Given the description of an element on the screen output the (x, y) to click on. 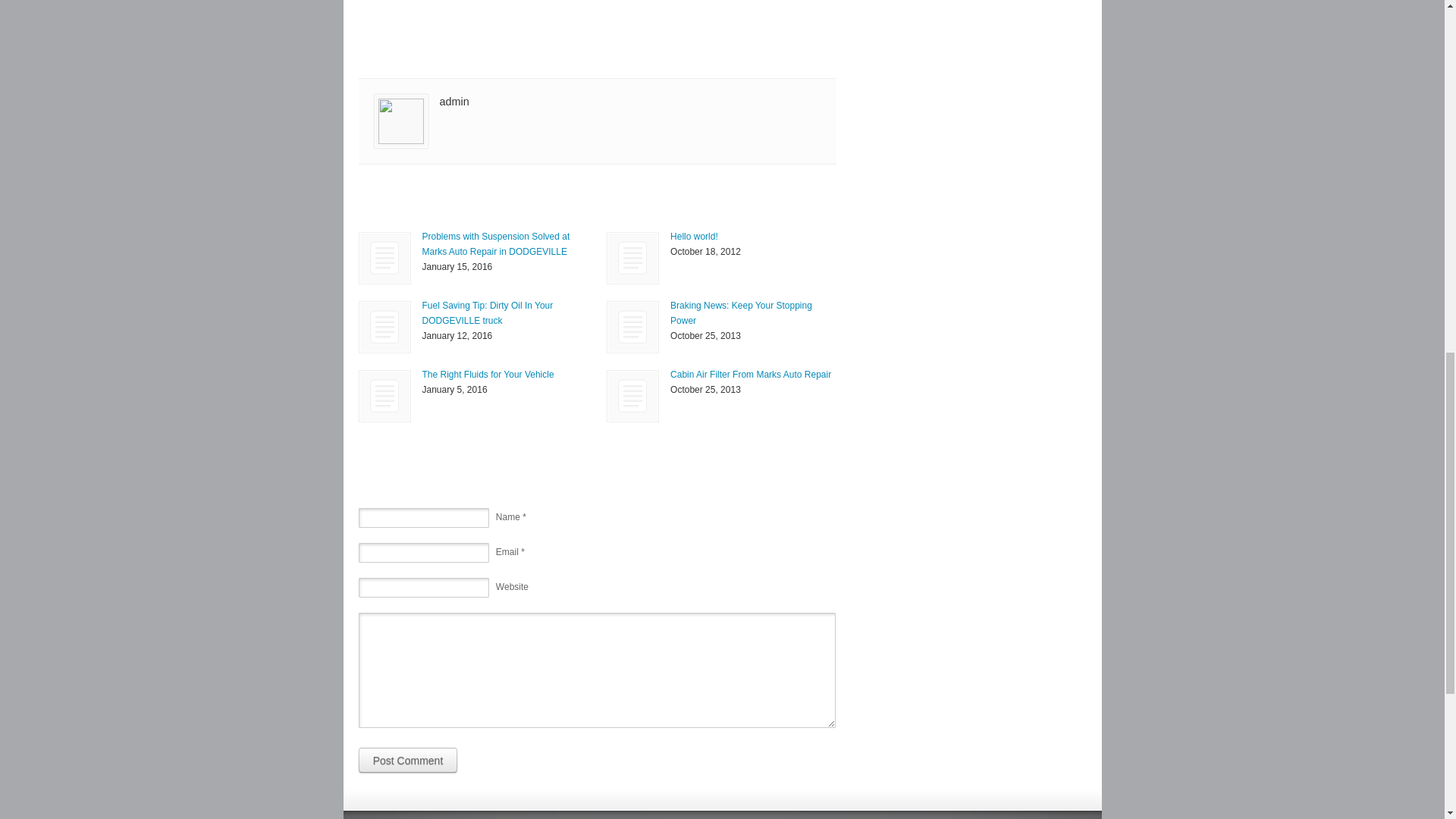
Fuel Saving Tip: Dirty Oil In Your DODGEVILLE truck (487, 312)
The Right Fluids for Your Vehicle (384, 396)
Hello world! (693, 235)
The Right Fluids for Your Vehicle (384, 396)
Post Comment (407, 760)
Fuel Saving Tip: Dirty Oil In Your DODGEVILLE truck (384, 327)
The Right Fluids for Your Vehicle (487, 374)
Fuel Saving Tip: Dirty Oil In Your DODGEVILLE truck (487, 312)
Hello world! (693, 235)
The Right Fluids for Your Vehicle (487, 374)
Hello world! (633, 257)
Fuel Saving Tip: Dirty Oil In Your DODGEVILLE truck (384, 326)
